Given the description of an element on the screen output the (x, y) to click on. 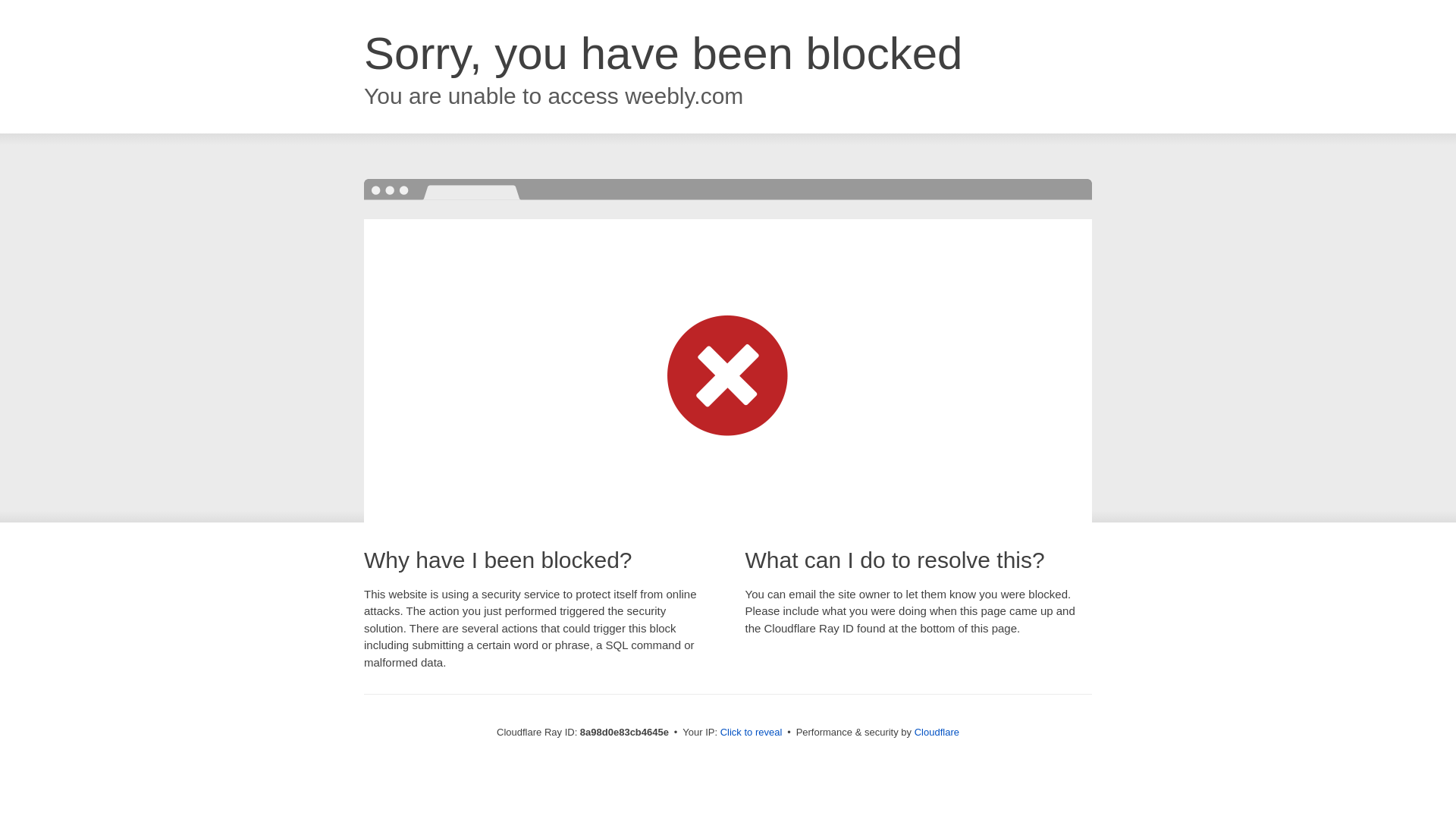
Cloudflare (936, 731)
Click to reveal (751, 732)
